Given the description of an element on the screen output the (x, y) to click on. 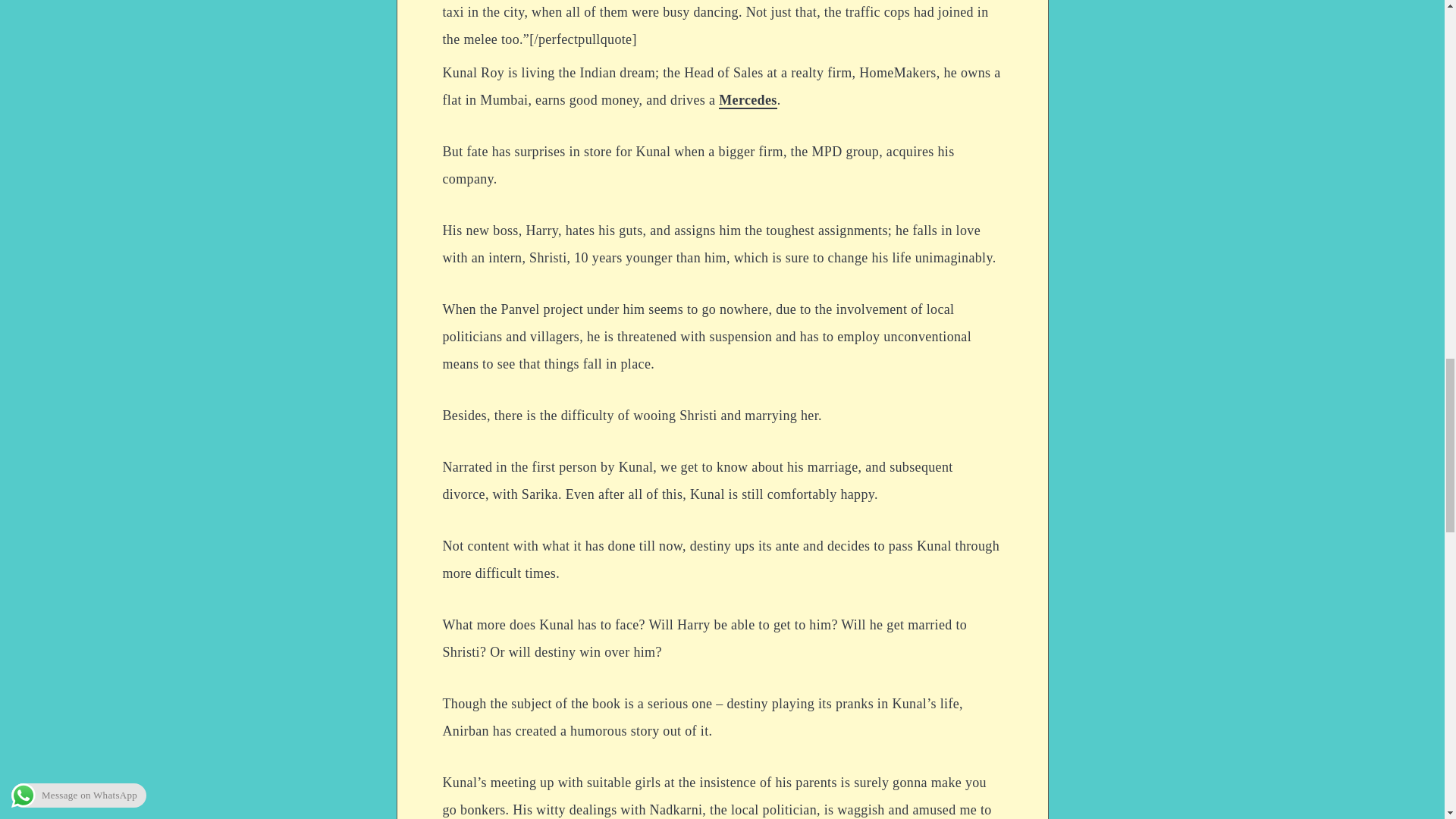
Mercedes (747, 100)
